Given the description of an element on the screen output the (x, y) to click on. 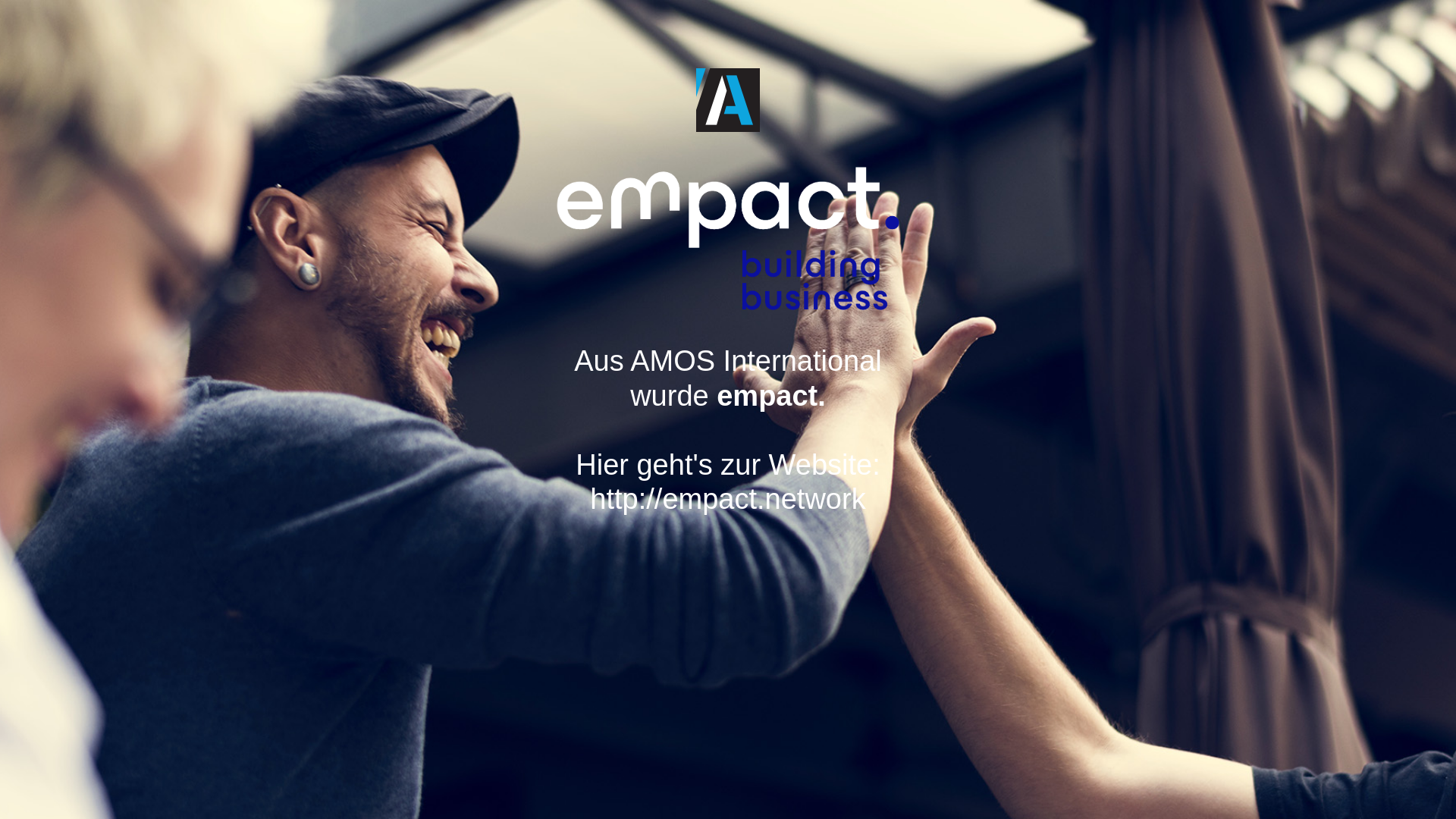
http://empact.network Element type: text (734, 516)
